Given the description of an element on the screen output the (x, y) to click on. 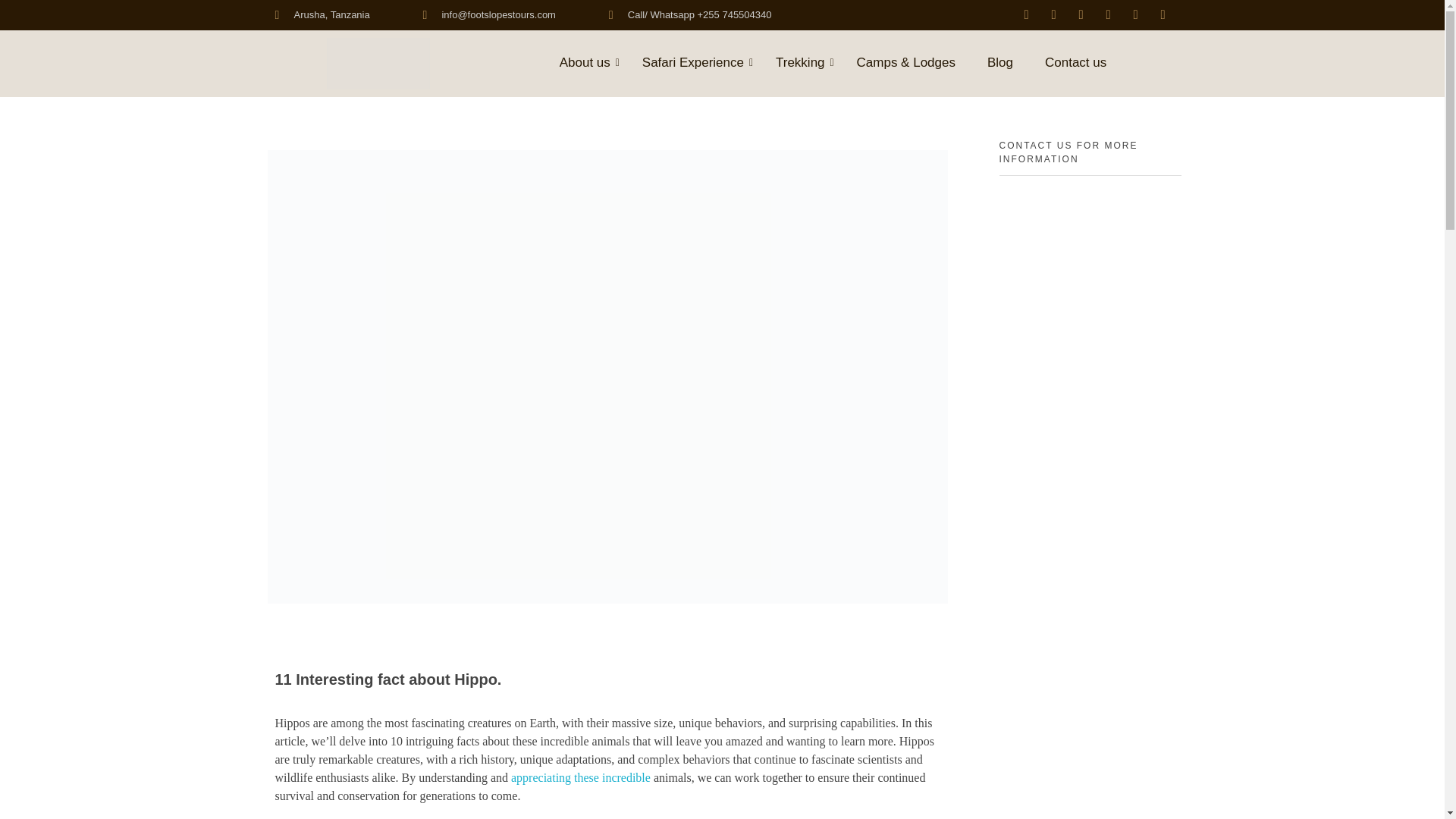
About us (584, 63)
Contact us (1074, 63)
Blog (999, 63)
Safari Experience (692, 63)
Trekking (800, 63)
